Given the description of an element on the screen output the (x, y) to click on. 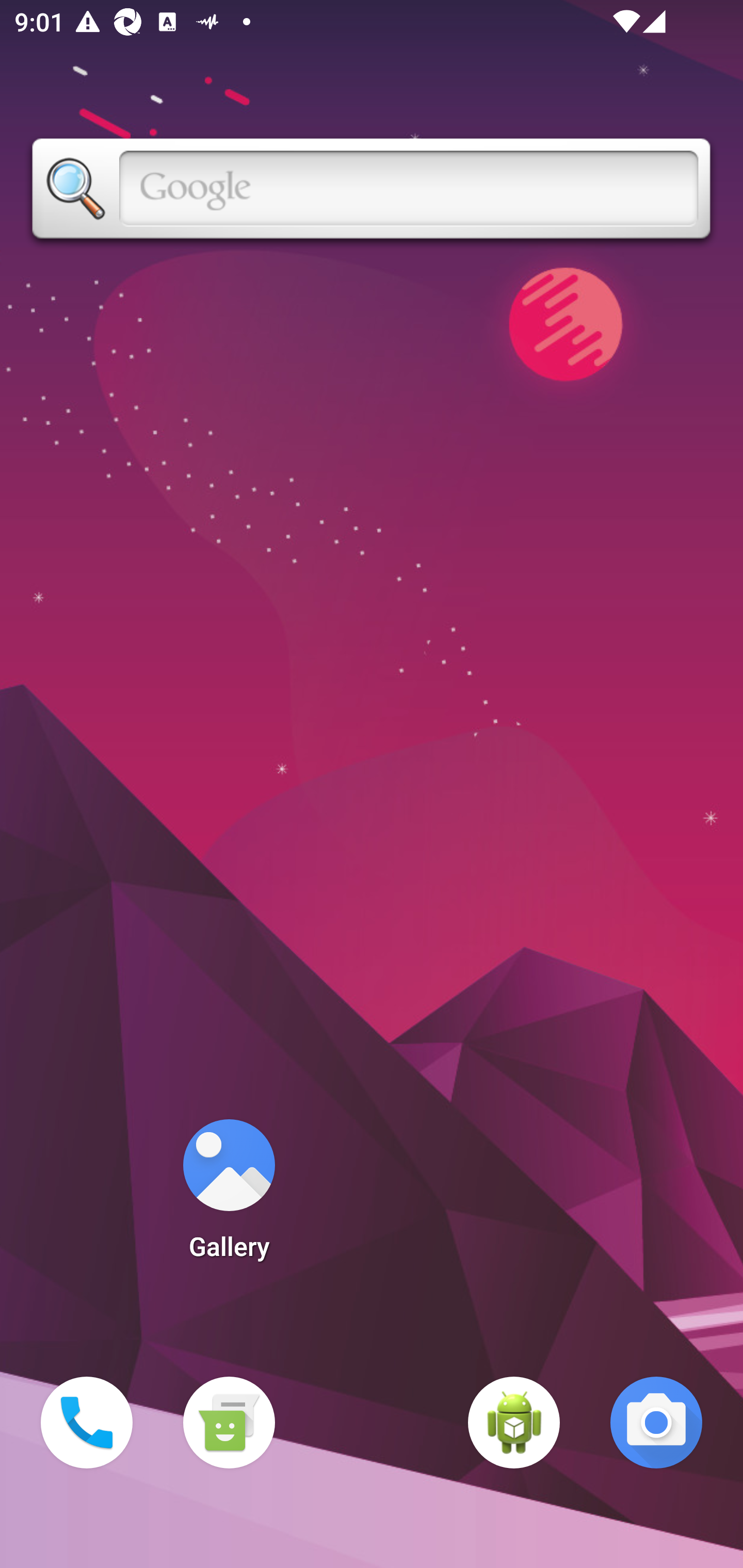
Gallery (228, 1195)
Phone (86, 1422)
Messaging (228, 1422)
WebView Browser Tester (513, 1422)
Camera (656, 1422)
